Given the description of an element on the screen output the (x, y) to click on. 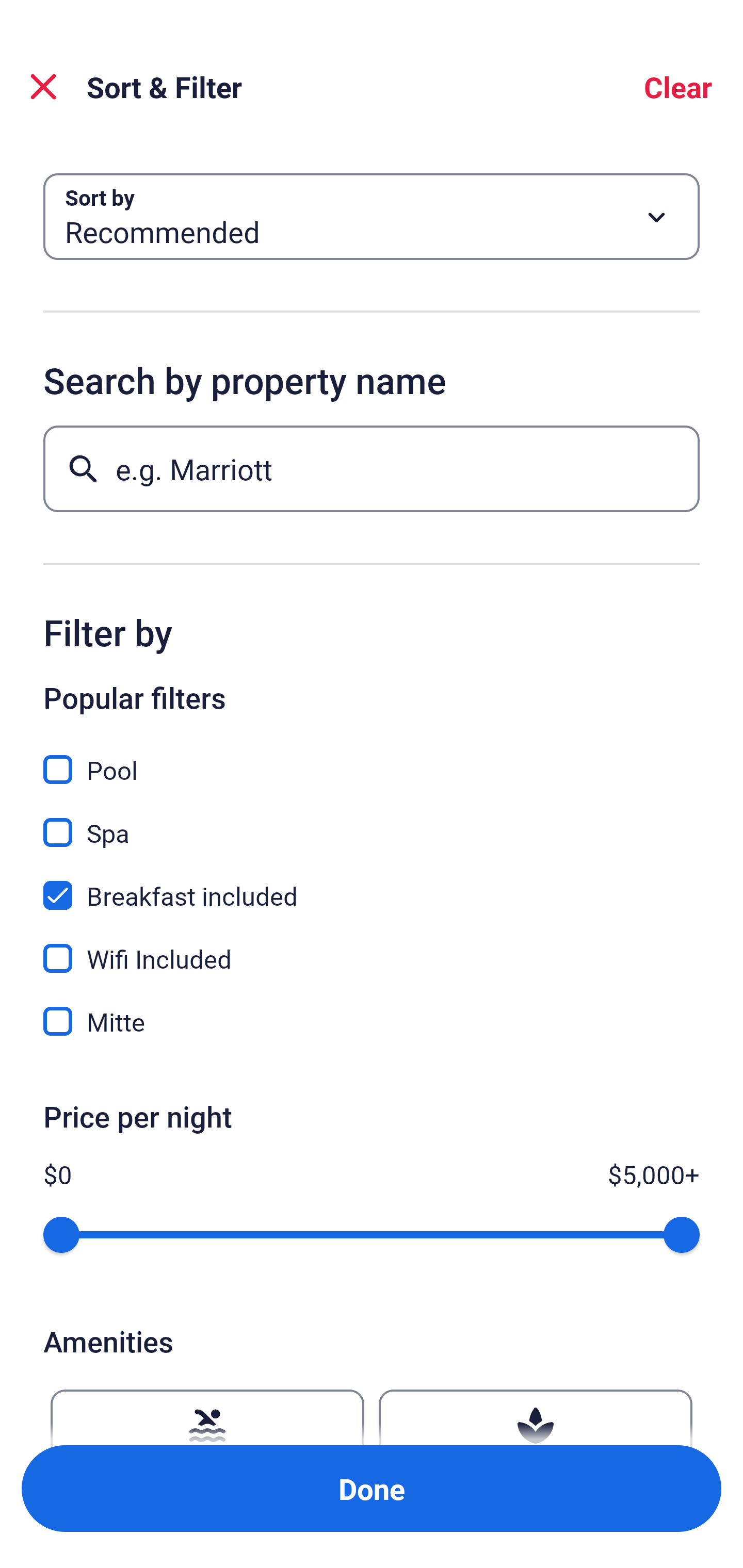
Close Sort and Filter (43, 86)
Clear (677, 86)
Sort by Button Recommended (371, 217)
e.g. Marriott Button (371, 468)
Pool, Pool (371, 757)
Spa, Spa (371, 821)
Breakfast included, Breakfast included (371, 883)
Wifi Included, Wifi Included (371, 946)
Mitte, Mitte (371, 1021)
Apply and close Sort and Filter Done (371, 1488)
